Given the description of an element on the screen output the (x, y) to click on. 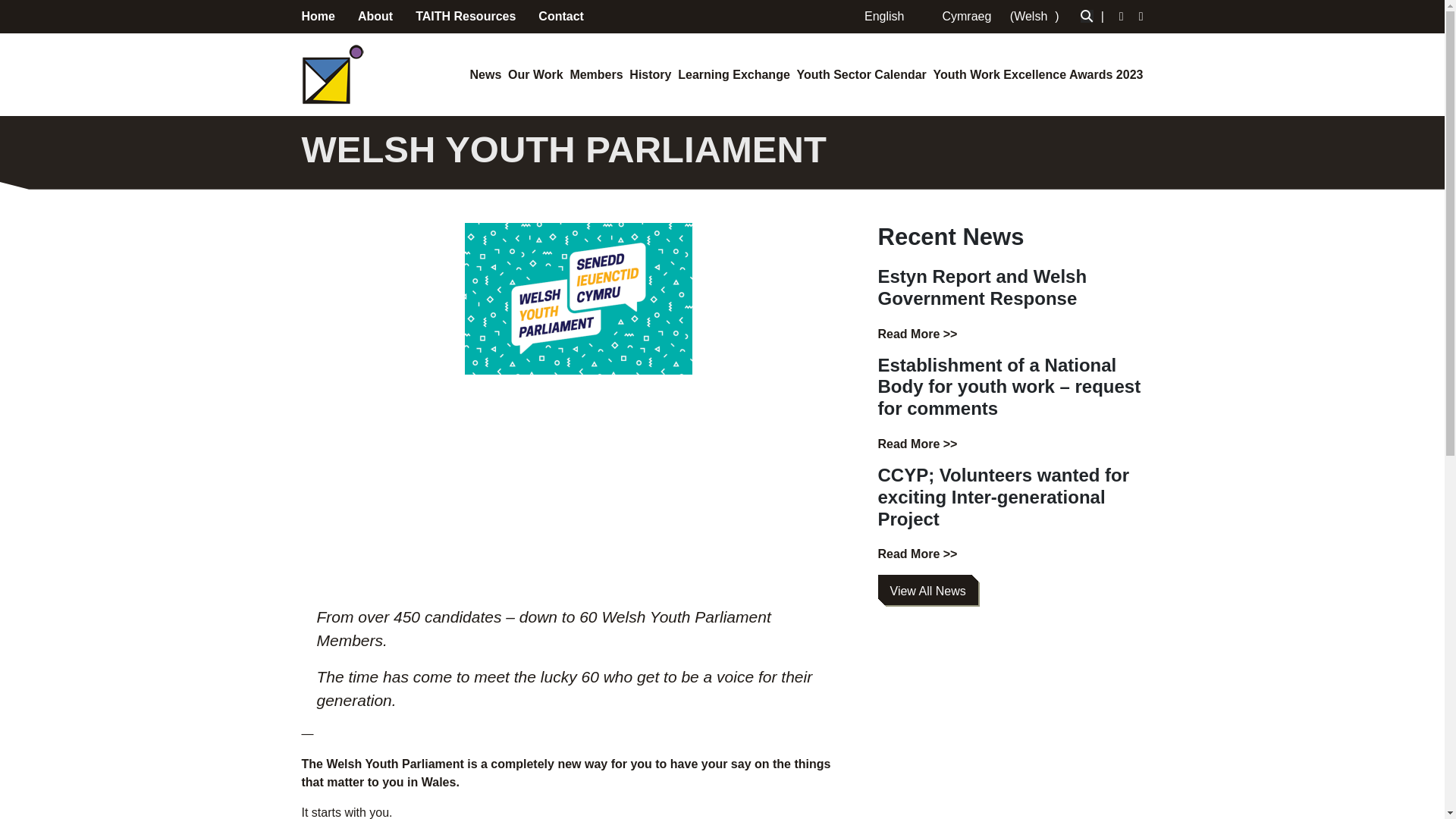
Youth Work Excellence Awards 2023 (1037, 74)
English (879, 16)
Contact (560, 15)
Youth Sector Calendar (861, 74)
Our Work (535, 74)
News (486, 74)
View All News (927, 590)
View All News (927, 589)
About (375, 15)
Home (317, 15)
